Given the description of an element on the screen output the (x, y) to click on. 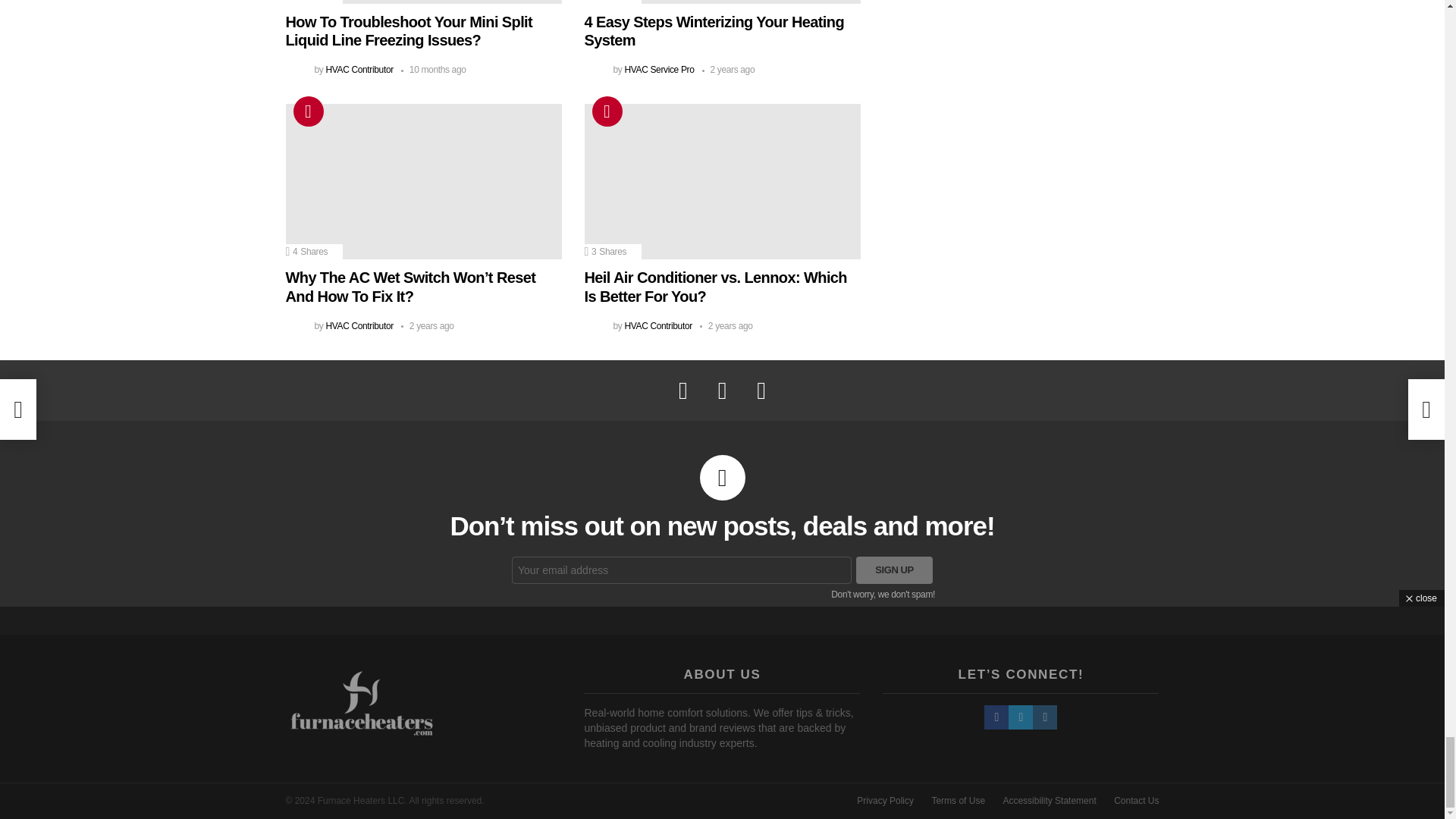
Sign up (894, 569)
